Given the description of an element on the screen output the (x, y) to click on. 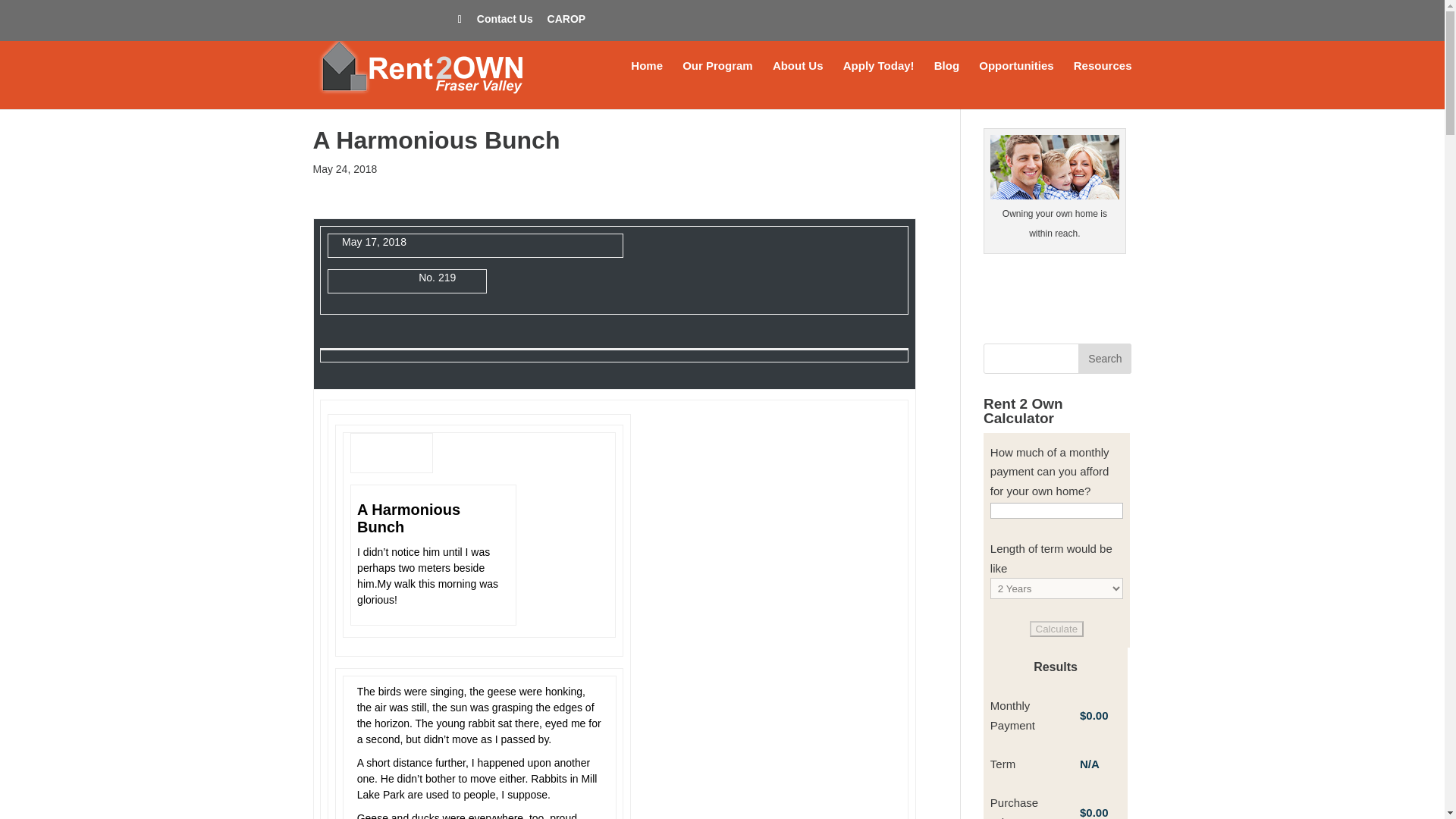
Contact Us (504, 22)
Resources (1103, 84)
Our Program (717, 84)
Opportunities (1015, 84)
Search (1104, 358)
About Us (798, 84)
Apply Today! (878, 84)
CAROP (566, 22)
Calculate (1056, 628)
Search (1104, 358)
